Given the description of an element on the screen output the (x, y) to click on. 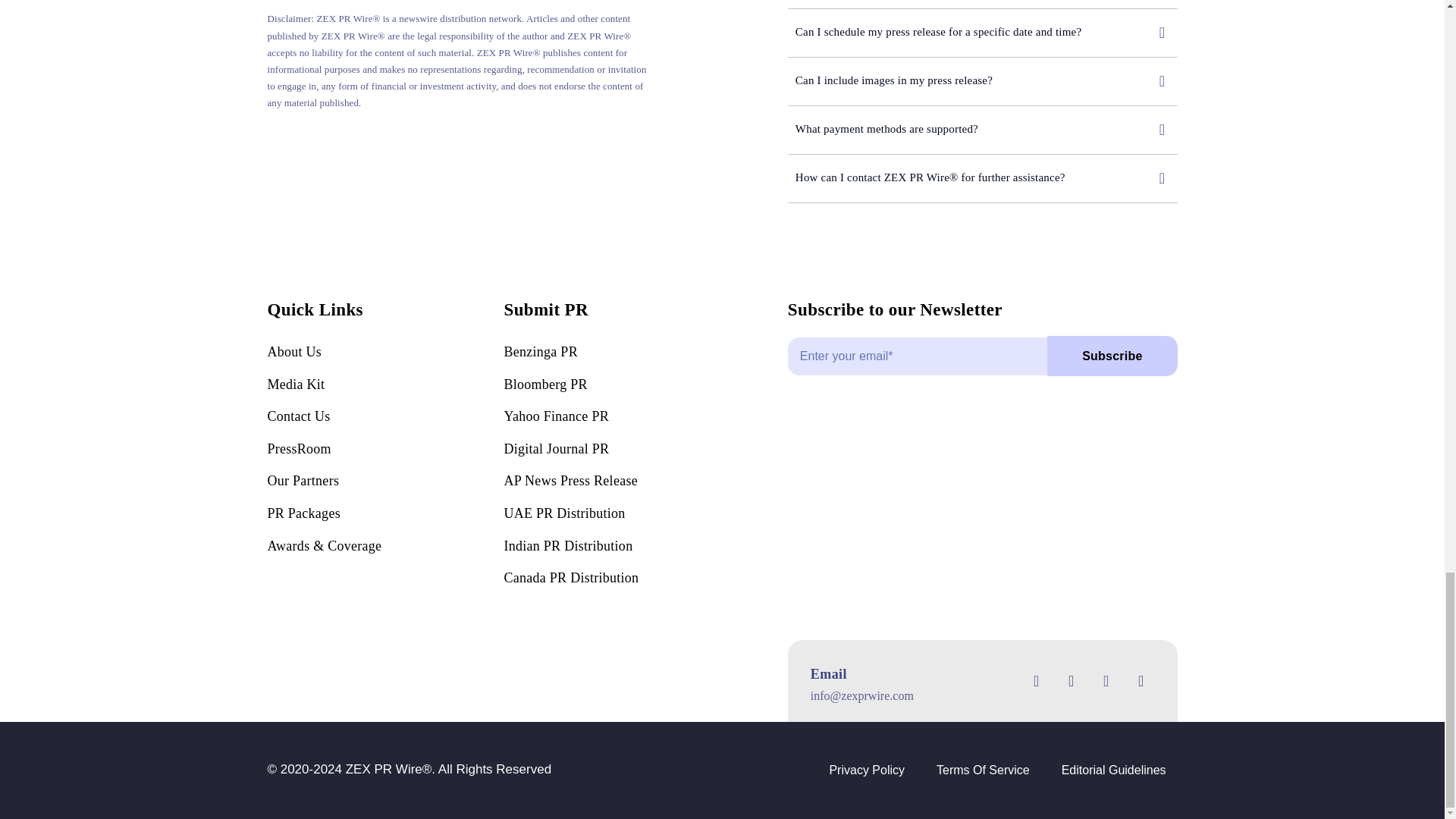
Subscribe (982, 363)
Facebook (1036, 680)
X (1071, 680)
Instagram (1106, 680)
LinkedIn (1140, 680)
